Given the description of an element on the screen output the (x, y) to click on. 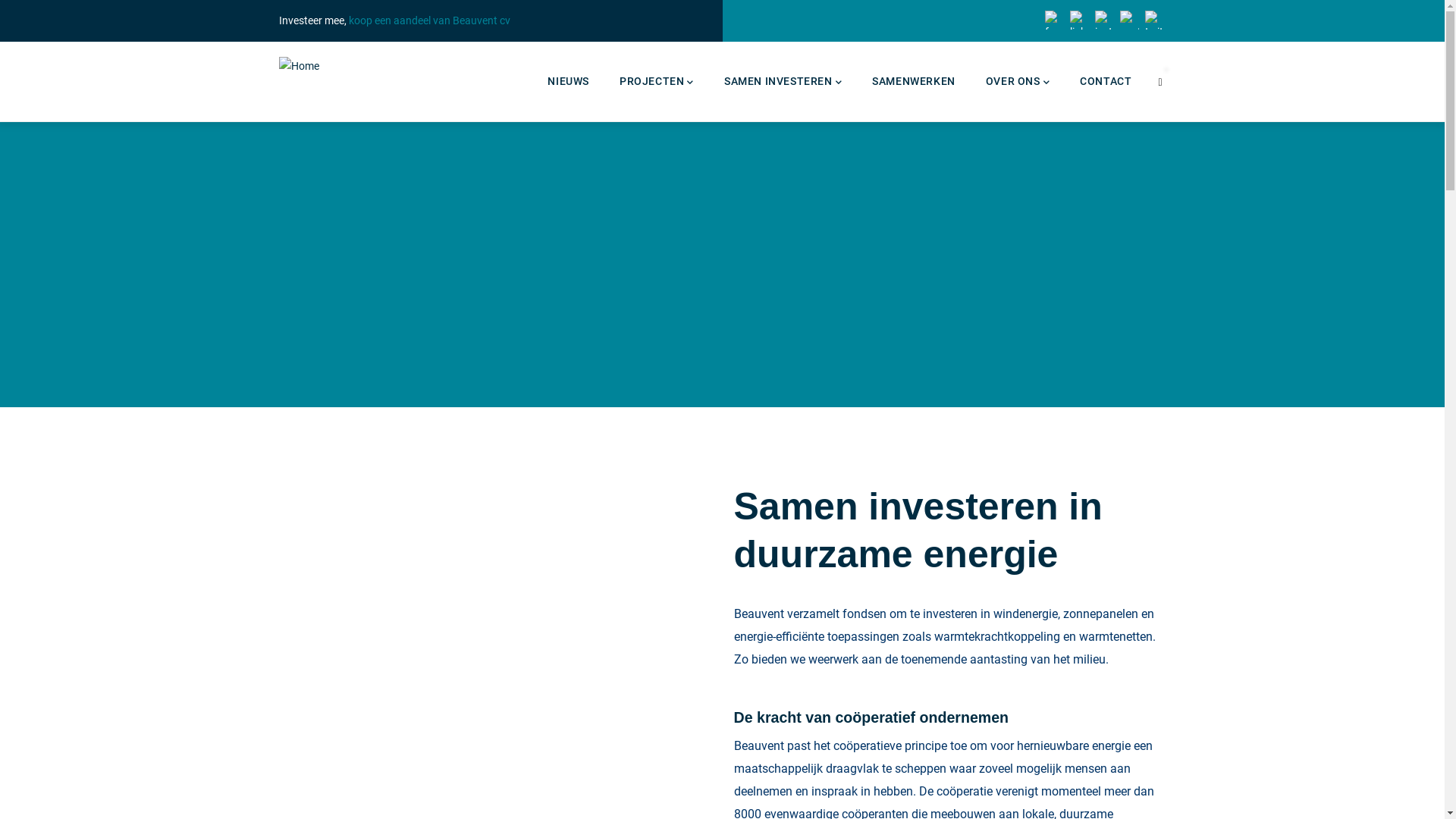
CONTACT Element type: text (1105, 81)
koop een aandeel van Beauvent cv Element type: text (429, 20)
NIEUWS Element type: text (568, 81)
PROJECTEN Element type: text (656, 81)
Skip to main content Element type: text (0, 0)
OVER ONS Element type: text (1017, 81)
SAMEN INVESTEREN Element type: text (782, 81)
Home Element type: hover (299, 66)
SAMENWERKEN Element type: text (913, 81)
